Given the description of an element on the screen output the (x, y) to click on. 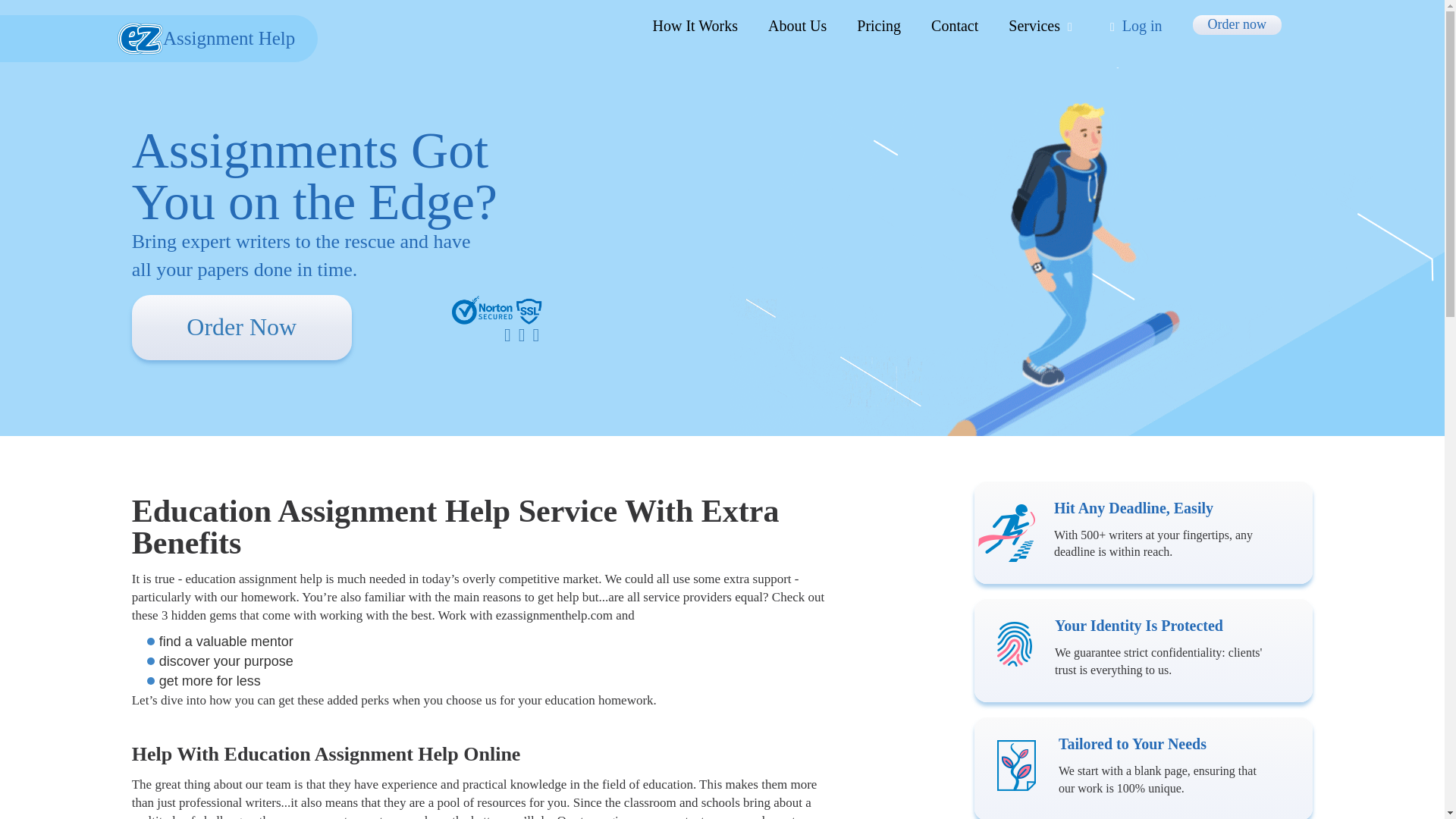
About Us (797, 25)
Assignment Help (158, 38)
How It Works (695, 25)
Pricing (879, 25)
Contact (954, 25)
